Given the description of an element on the screen output the (x, y) to click on. 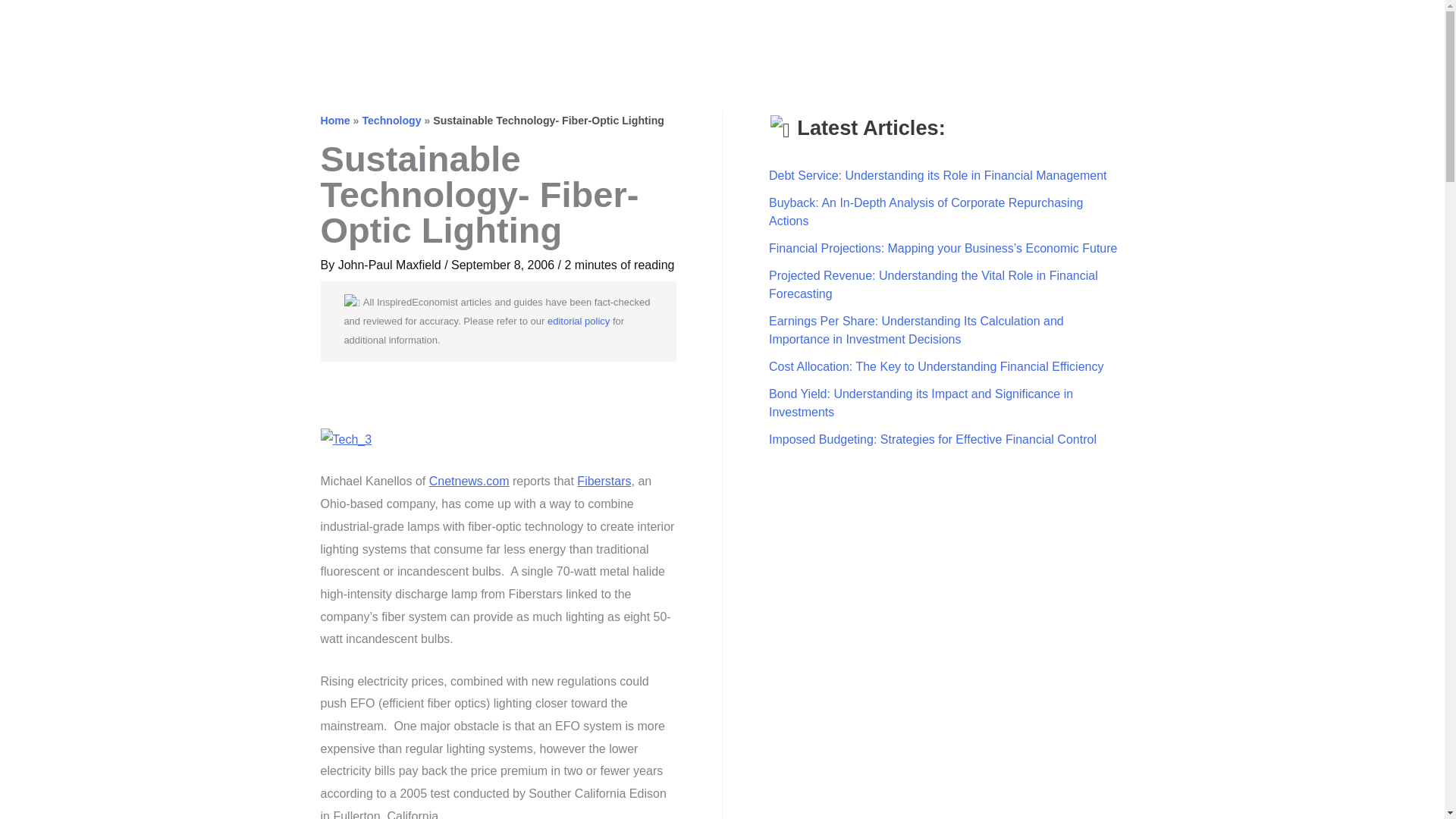
Resources (1354, 31)
editorial policy (578, 320)
Technology (390, 120)
Investing (1208, 31)
Finance (1127, 31)
Home (334, 120)
John-Paul Maxfield (391, 264)
Corporate Social Responsibility (1279, 31)
CSR (1279, 31)
View all posts by John-Paul Maxfield (391, 264)
